Given the description of an element on the screen output the (x, y) to click on. 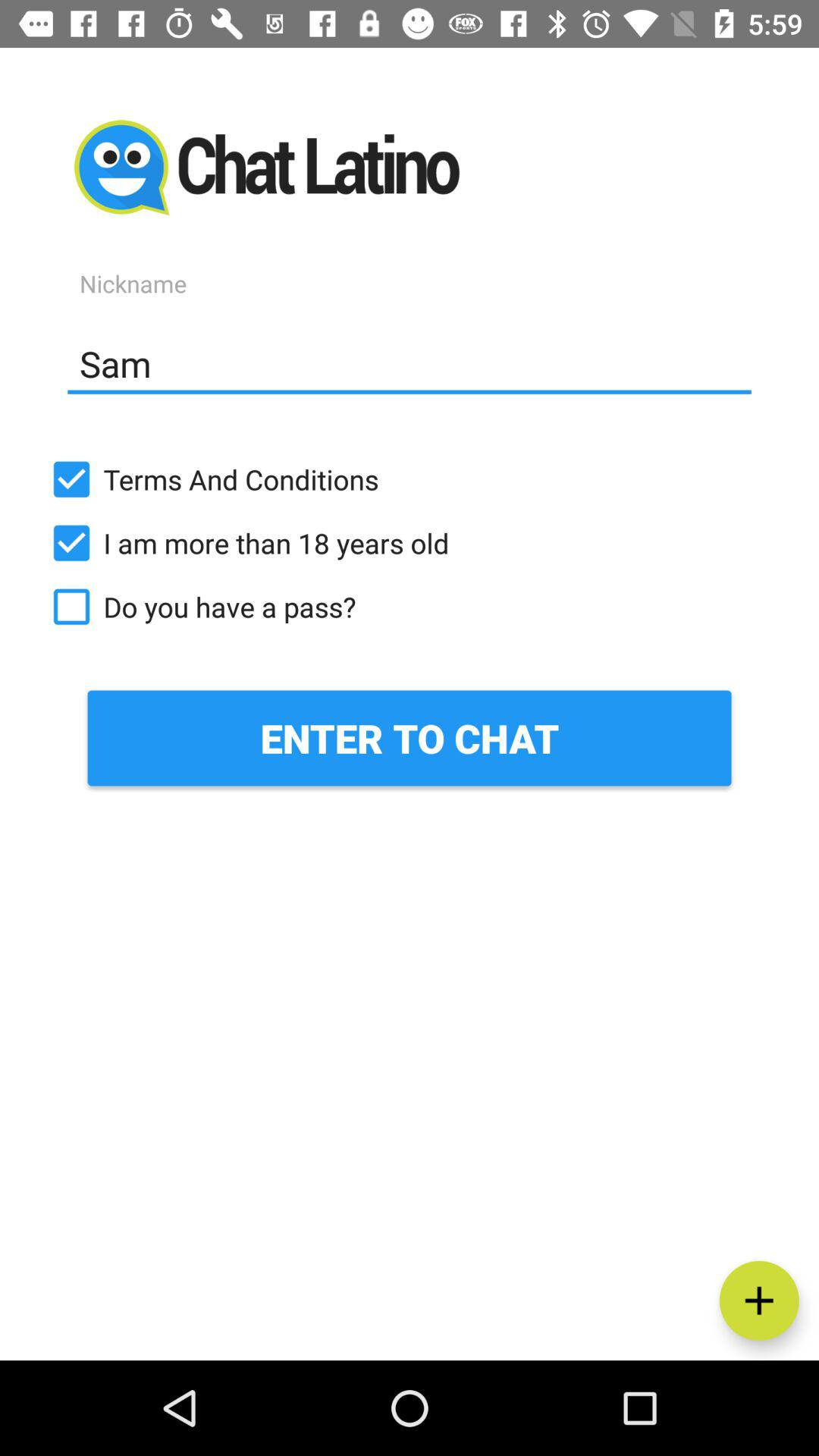
launch the icon above the enter to chat (409, 606)
